Given the description of an element on the screen output the (x, y) to click on. 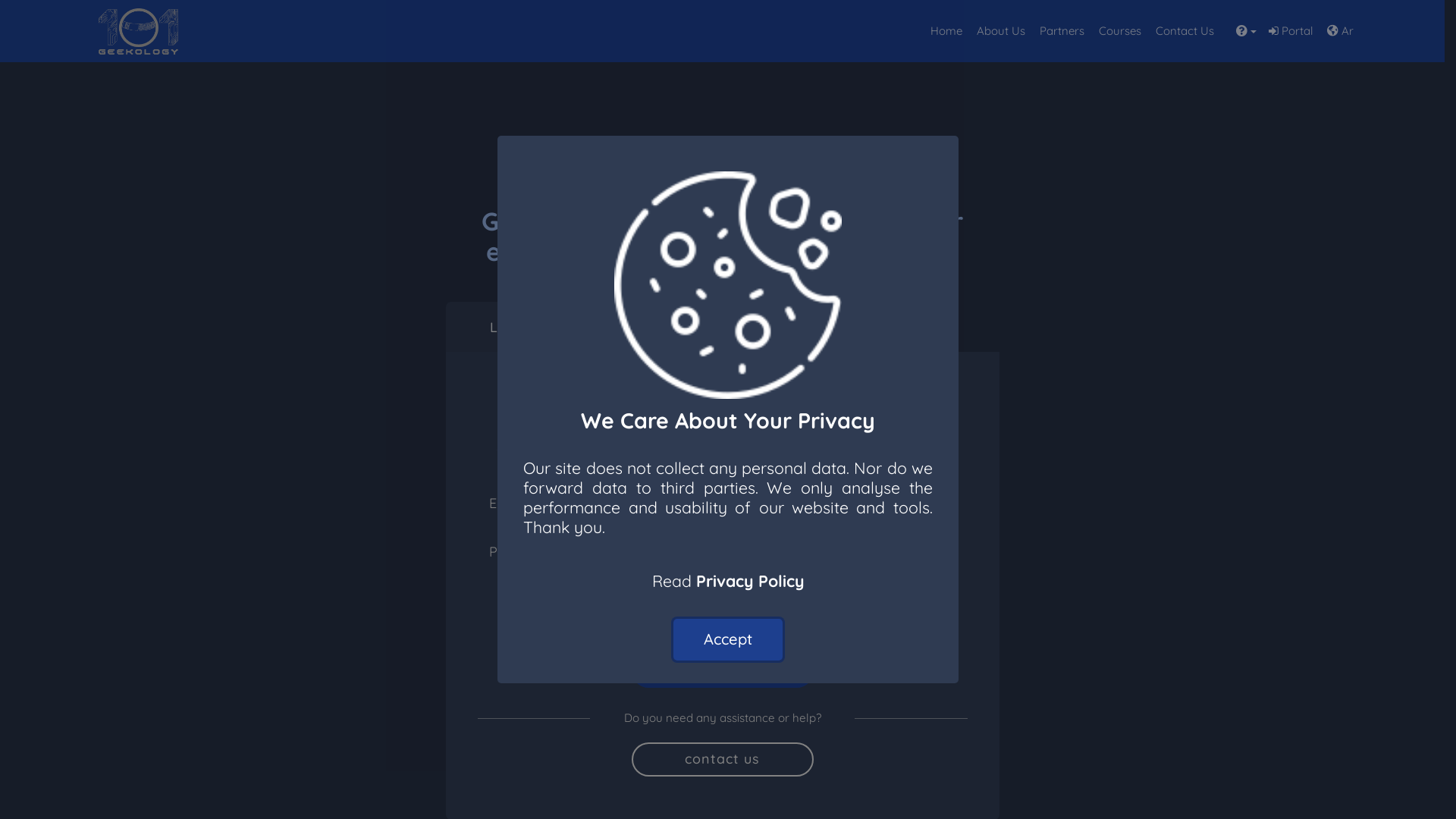
Partners Element type: text (1062, 31)
Login Element type: text (721, 670)
Connect with Google Element type: text (721, 411)
Courses Element type: text (1120, 31)
(Click here) Element type: text (798, 613)
Contact Us Element type: text (1184, 31)
About Us Element type: text (1000, 31)
Portal Element type: text (1290, 31)
Sign up Element type: text (635, 326)
Privacy Policy Element type: text (750, 580)
Home Element type: text (946, 31)
Accept Element type: text (728, 639)
Login Element type: text (507, 326)
Ar Element type: text (1340, 31)
contact us Element type: text (721, 759)
